Given the description of an element on the screen output the (x, y) to click on. 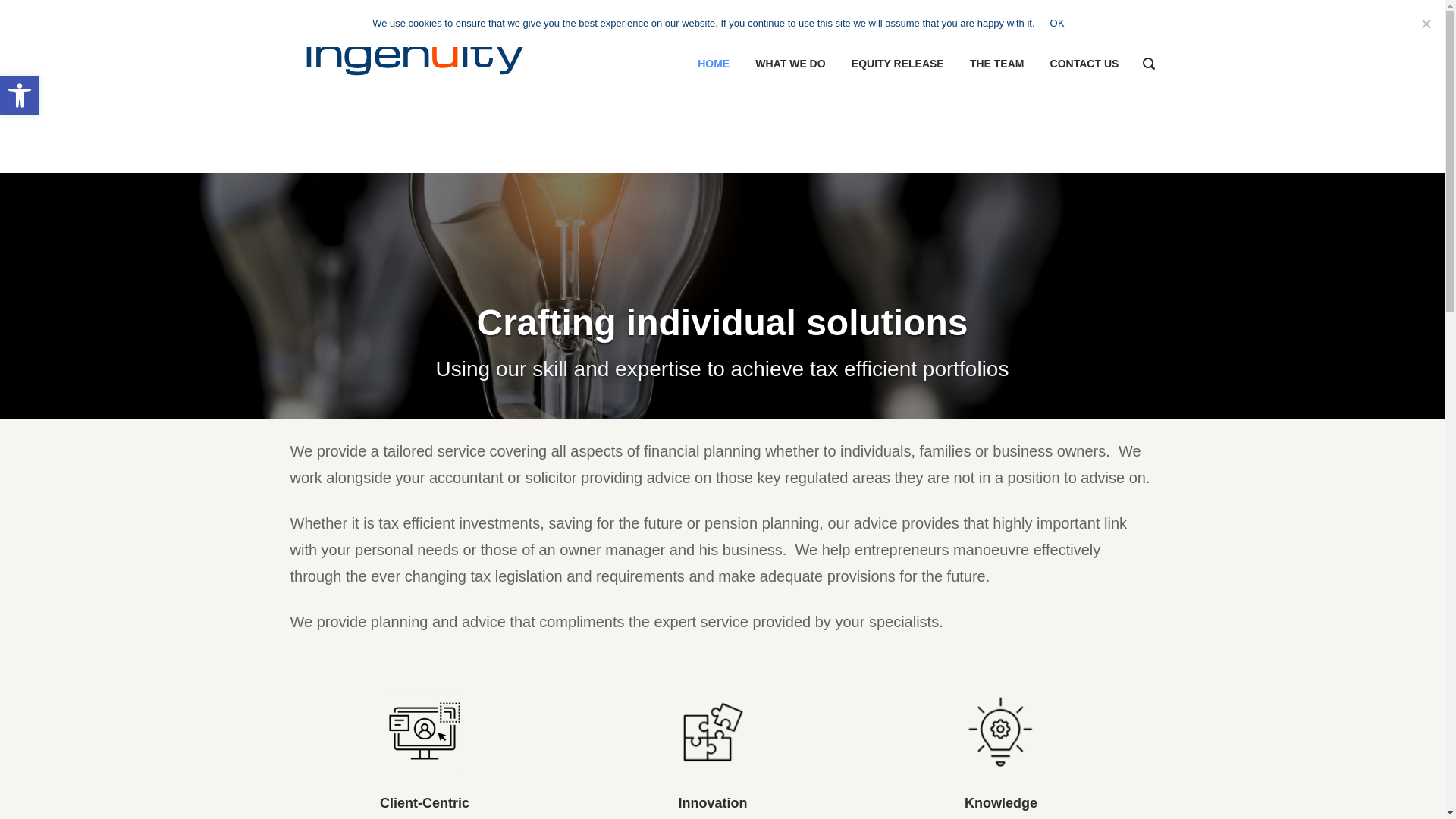
WHAT WE DO (790, 63)
THE TEAM (997, 63)
Home (430, 61)
CONTACT US (1084, 63)
Accessibility Tools (19, 95)
Accessibility Tools (19, 95)
Innovation (19, 95)
HOME (713, 732)
EQUITY RELEASE (713, 63)
OK (897, 63)
No (1056, 22)
